Given the description of an element on the screen output the (x, y) to click on. 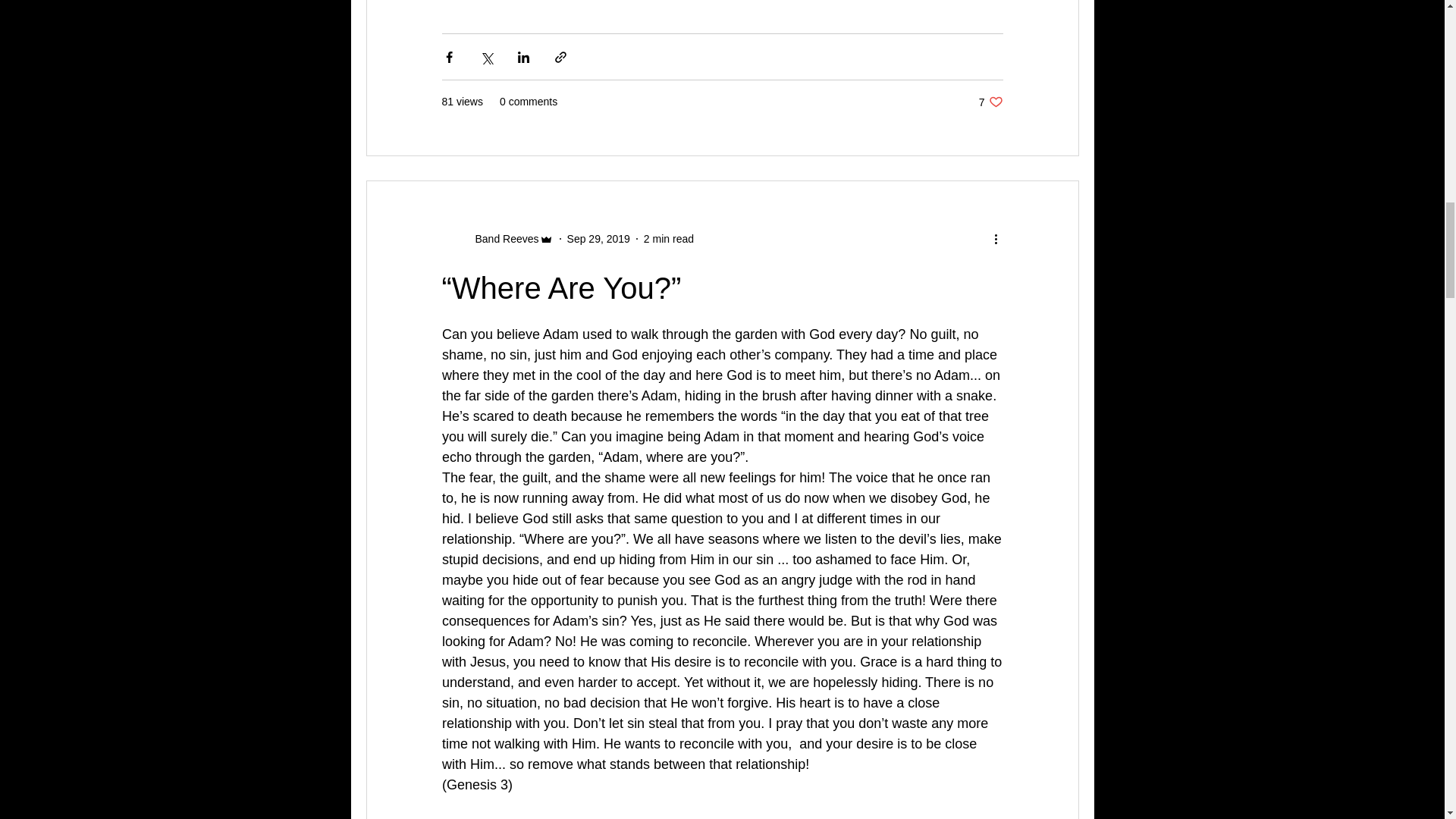
Band Reeves (990, 101)
Sep 29, 2019 (497, 238)
Band Reeves (598, 238)
2 min read (501, 238)
0 comments (668, 238)
